Given the description of an element on the screen output the (x, y) to click on. 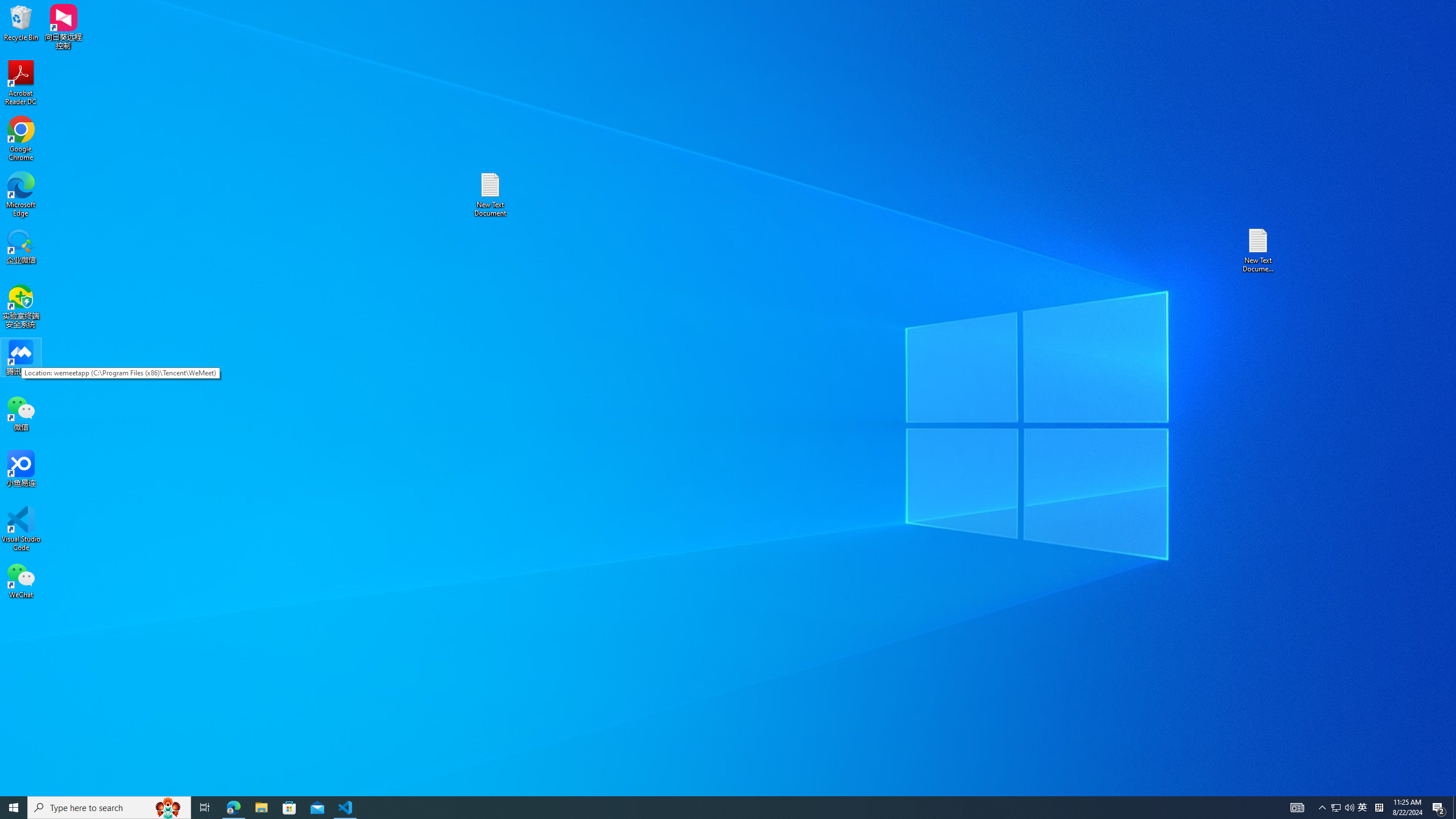
Visual Studio Code (21, 528)
Microsoft Edge (1362, 807)
Search highlights icon opens search home window (21, 194)
